Given the description of an element on the screen output the (x, y) to click on. 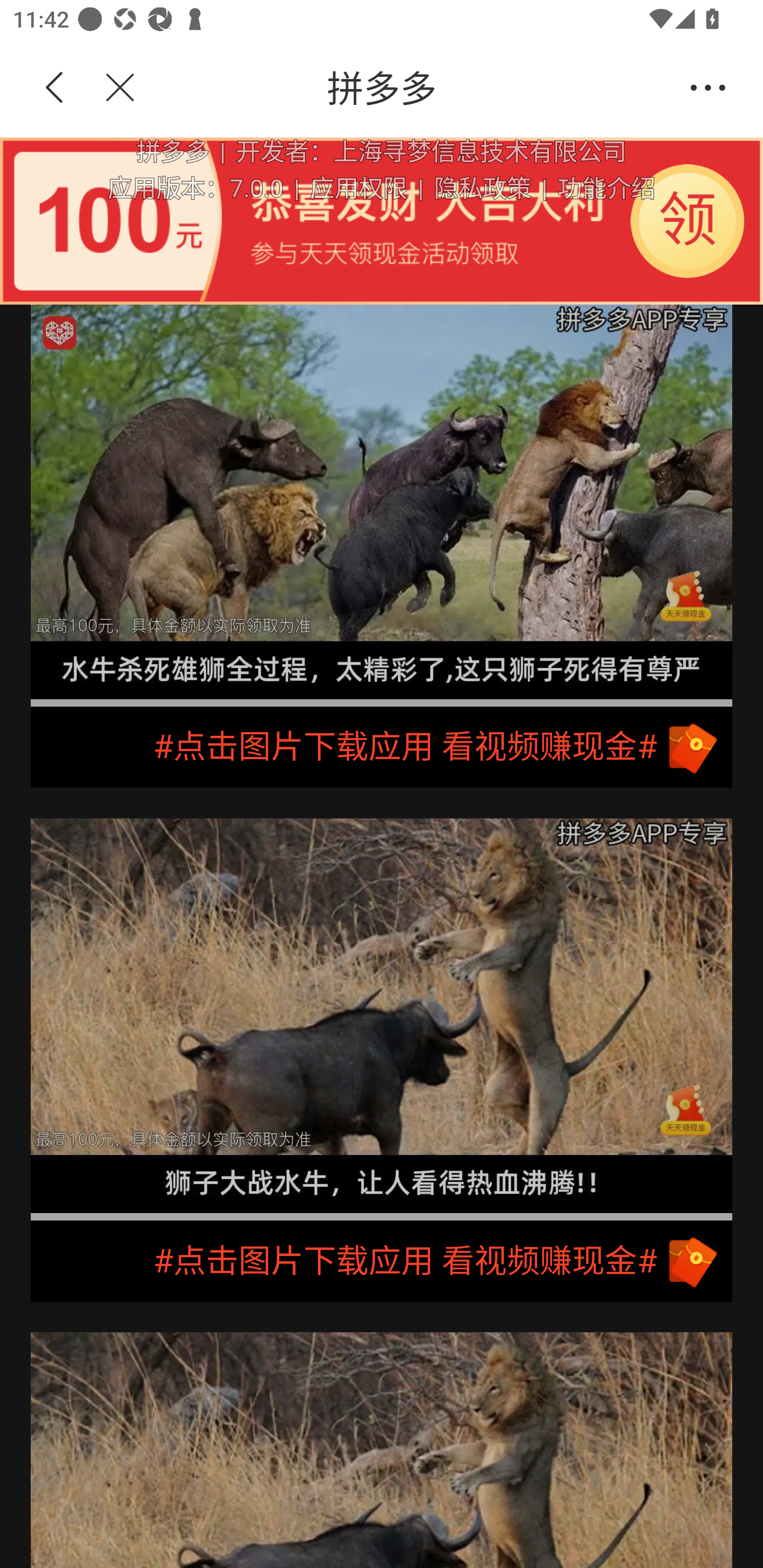
 (109, 87)
拼多多 (411, 87)
 返回 (54, 87)
 更多 (707, 87)
领 (687, 221)
#点击图片下载应用 看视频赚现金# (381, 746)
#点击图片下载应用 看视频赚现金# (381, 1261)
